Given the description of an element on the screen output the (x, y) to click on. 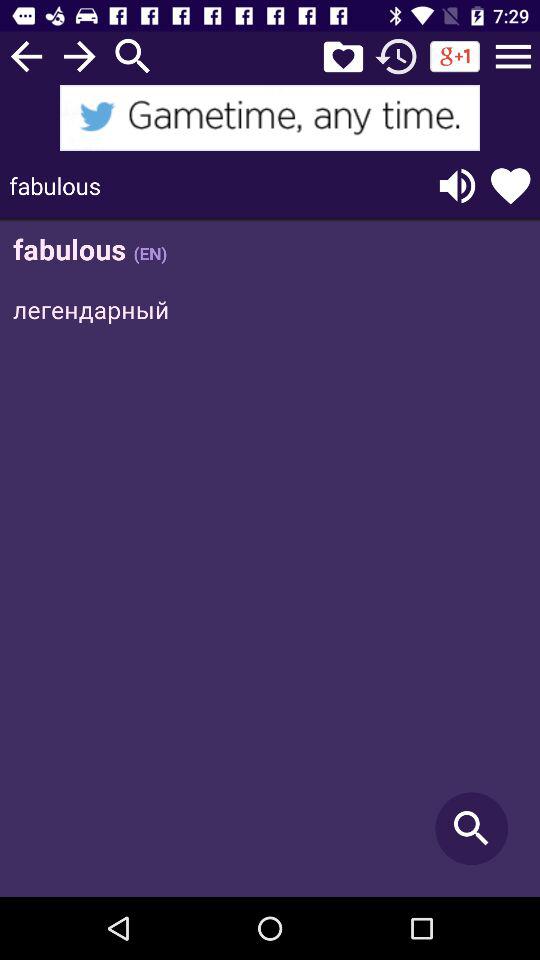
select a pulldown menu (513, 56)
